Given the description of an element on the screen output the (x, y) to click on. 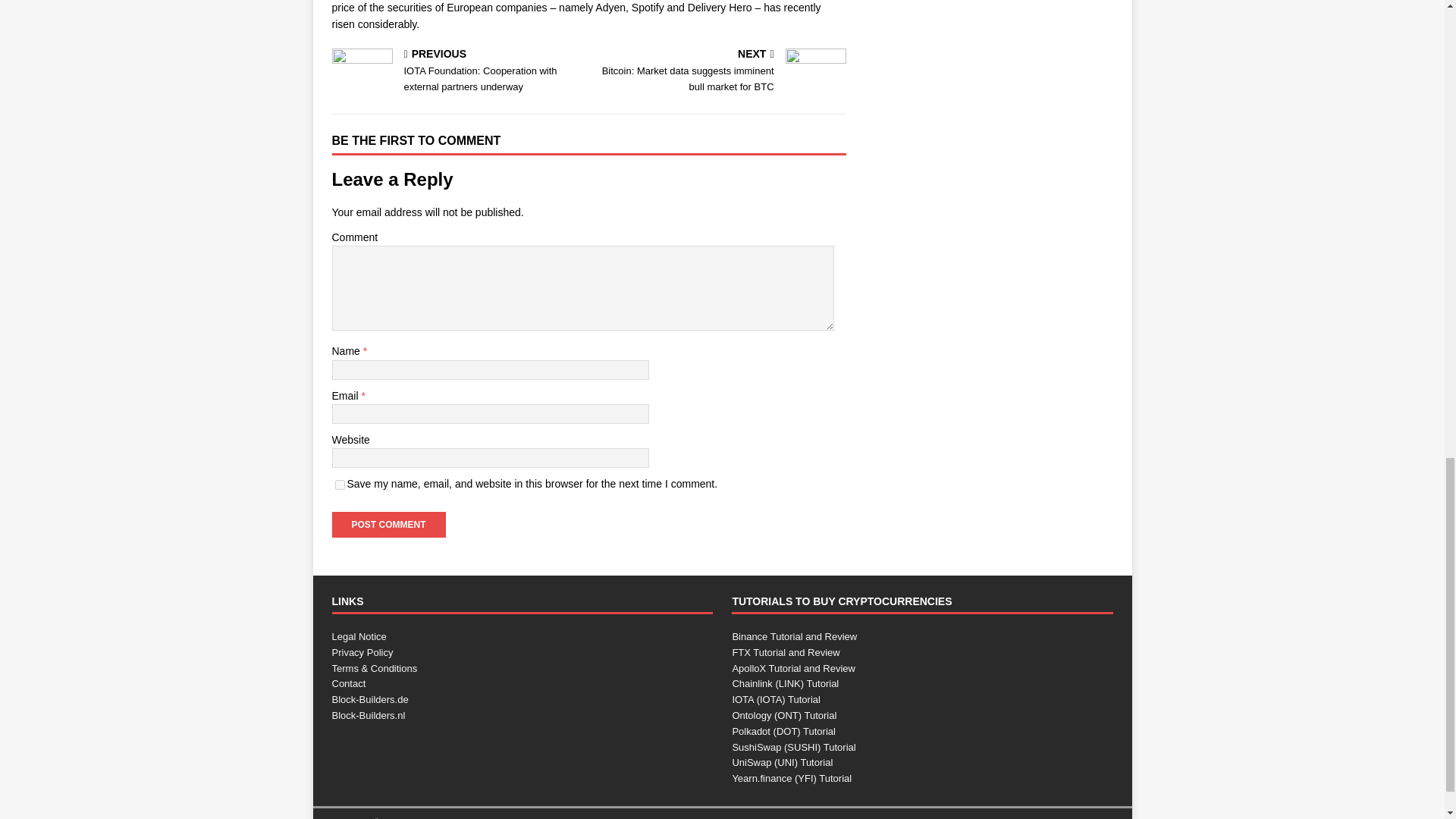
FTX Tutorial and Review (786, 652)
Privacy Policy (362, 652)
ApolloX Tutorial and Review (794, 668)
Block-Builders.nl (368, 715)
Post Comment (388, 524)
Legal Notice (359, 636)
Block-Builders.de (370, 699)
Binance Tutorial and Review (794, 636)
Contact (348, 683)
